Given the description of an element on the screen output the (x, y) to click on. 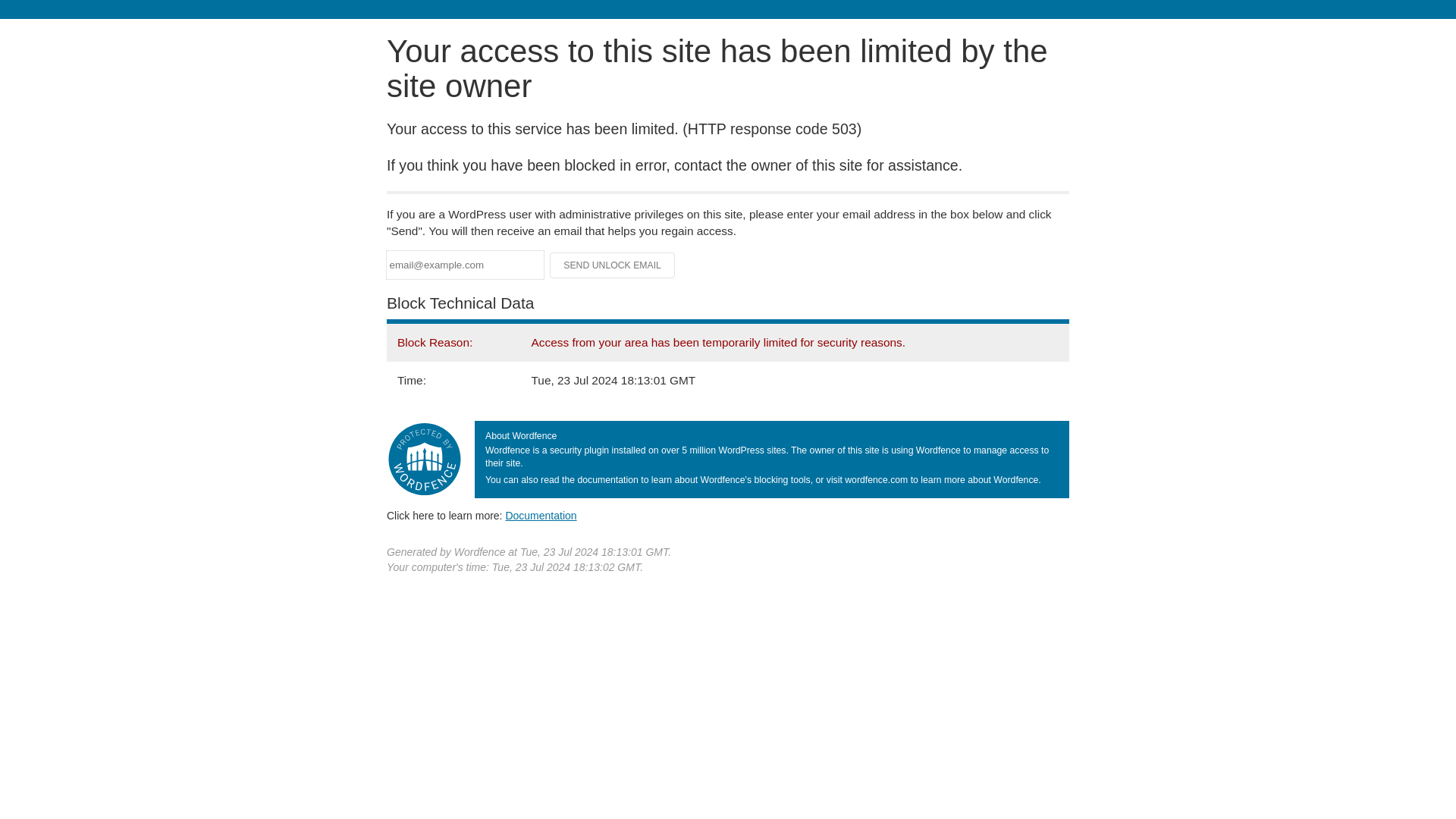
Send Unlock Email (612, 265)
Send Unlock Email (612, 265)
Documentation (540, 515)
